Given the description of an element on the screen output the (x, y) to click on. 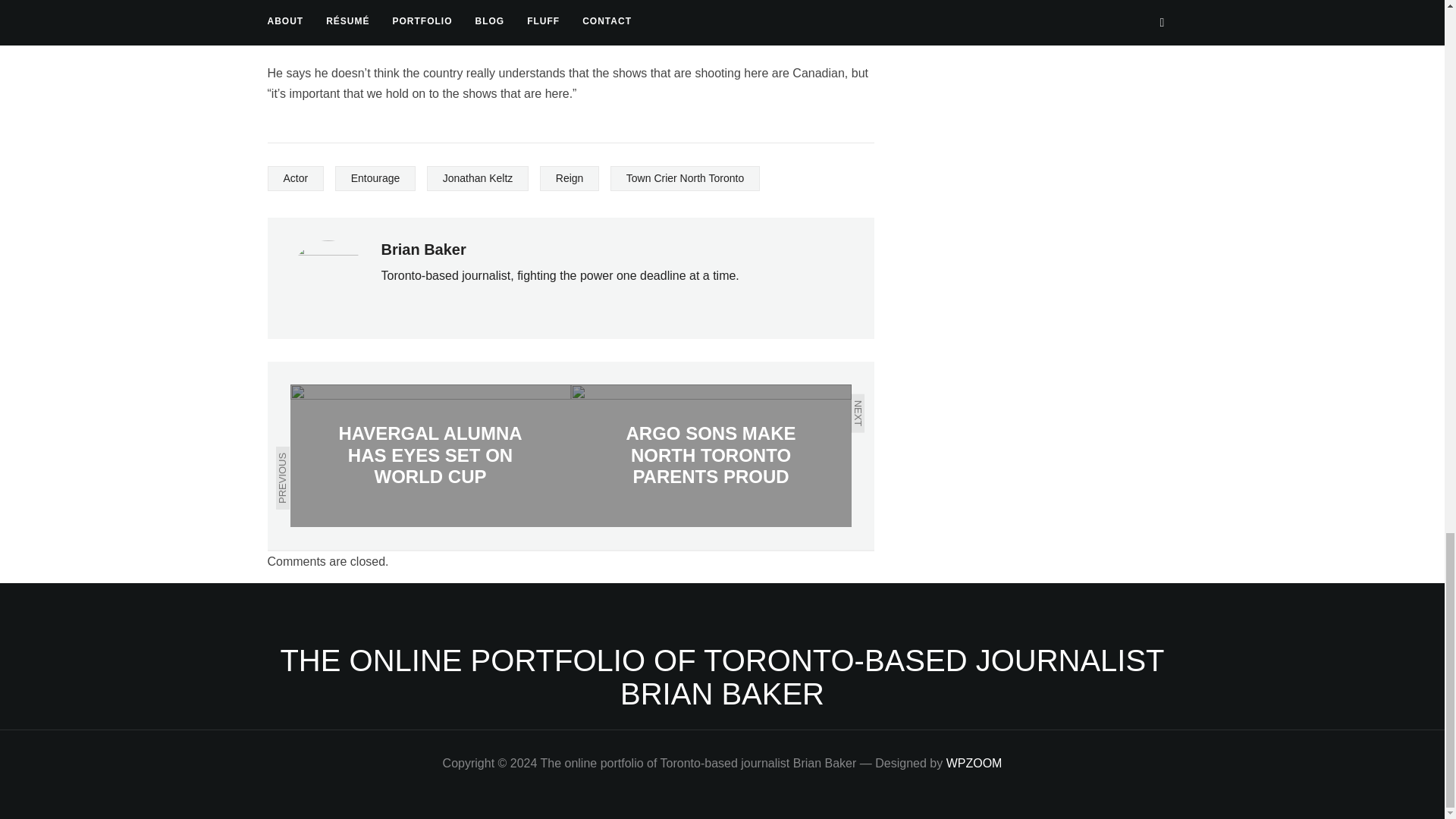
Argo sons make North Toronto parents proud (710, 455)
Posts by Brian Baker (422, 248)
Havergal alumna has eyes set on World Cup (429, 455)
